Given the description of an element on the screen output the (x, y) to click on. 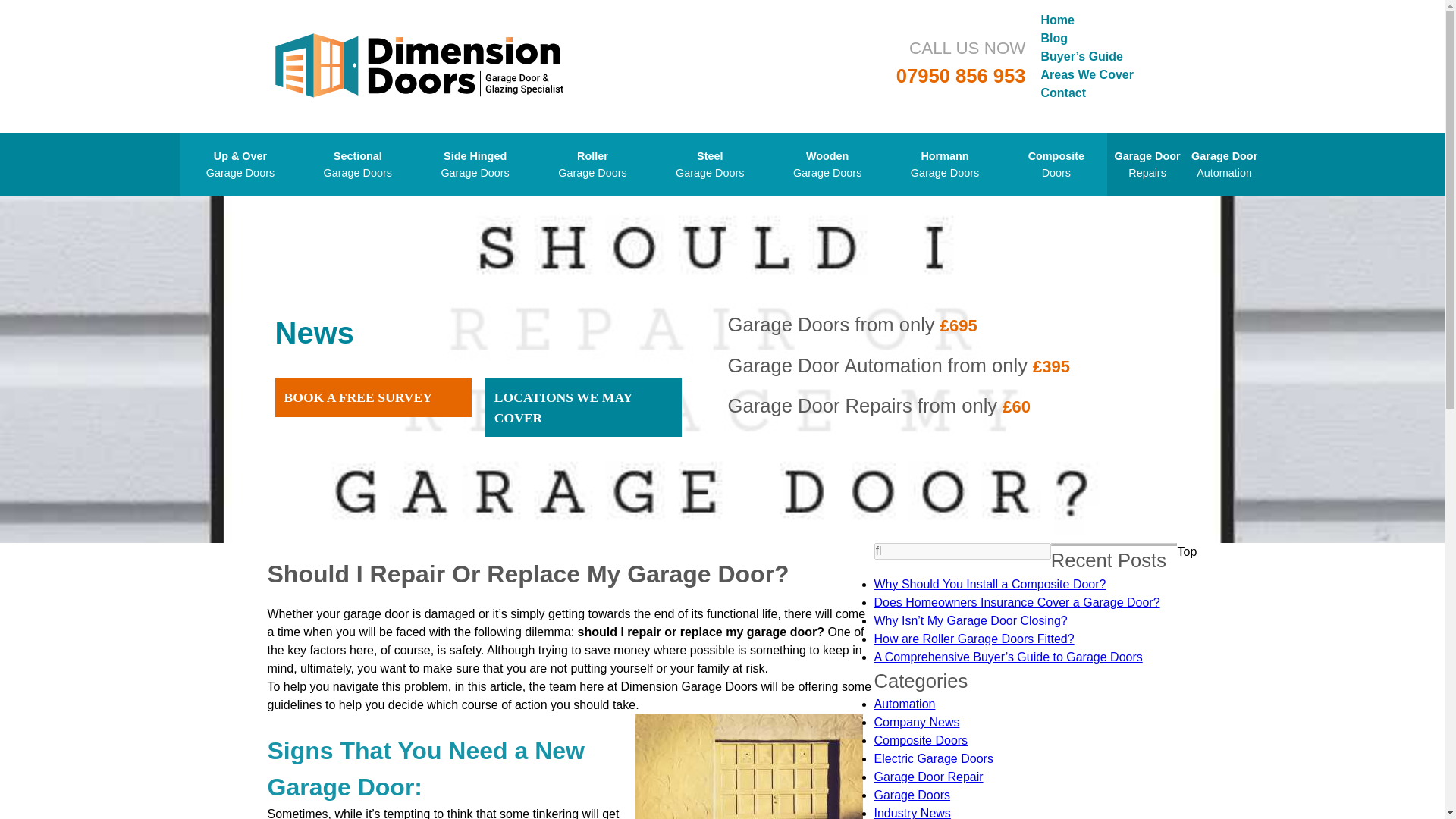
Contact (1063, 92)
LOCATIONS WE MAY COVER (474, 164)
Search for... (1056, 164)
07950 856 953 (1146, 164)
Home (357, 164)
Blog (583, 407)
BOOK A FREE SURVEY (961, 550)
Areas We Cover (826, 164)
